Given the description of an element on the screen output the (x, y) to click on. 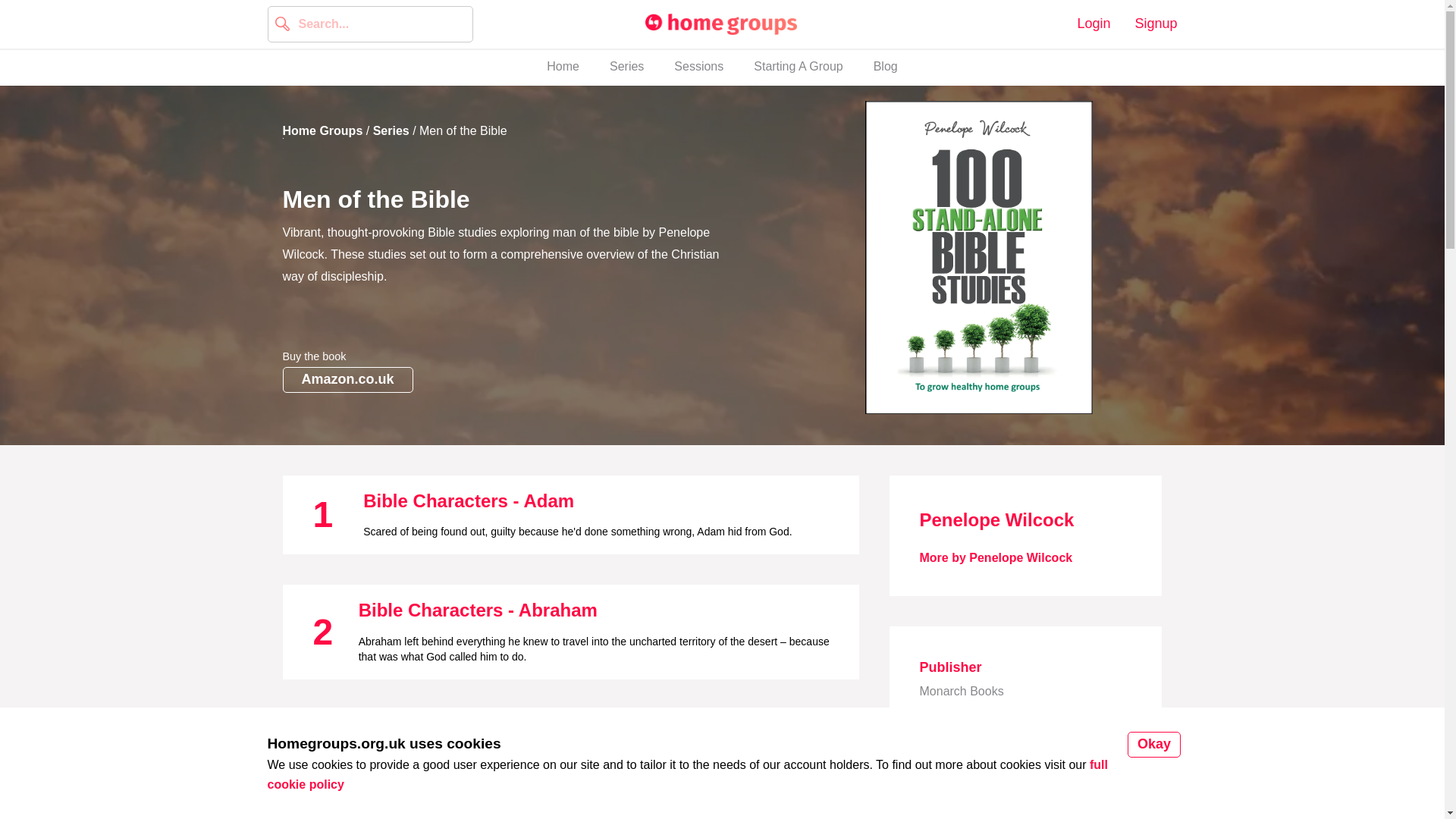
Home Groups (721, 66)
Home (720, 24)
Bible Characters - Adam (562, 66)
Series (467, 500)
Login (390, 130)
Amazon.co.uk (1093, 24)
Signup (347, 379)
Blog (1155, 24)
Bible Characters - Cain (885, 66)
Series (462, 734)
Sessions (626, 66)
Home Groups (698, 66)
Starting A Group (322, 130)
Bible Characters - Abraham (797, 66)
